Given the description of an element on the screen output the (x, y) to click on. 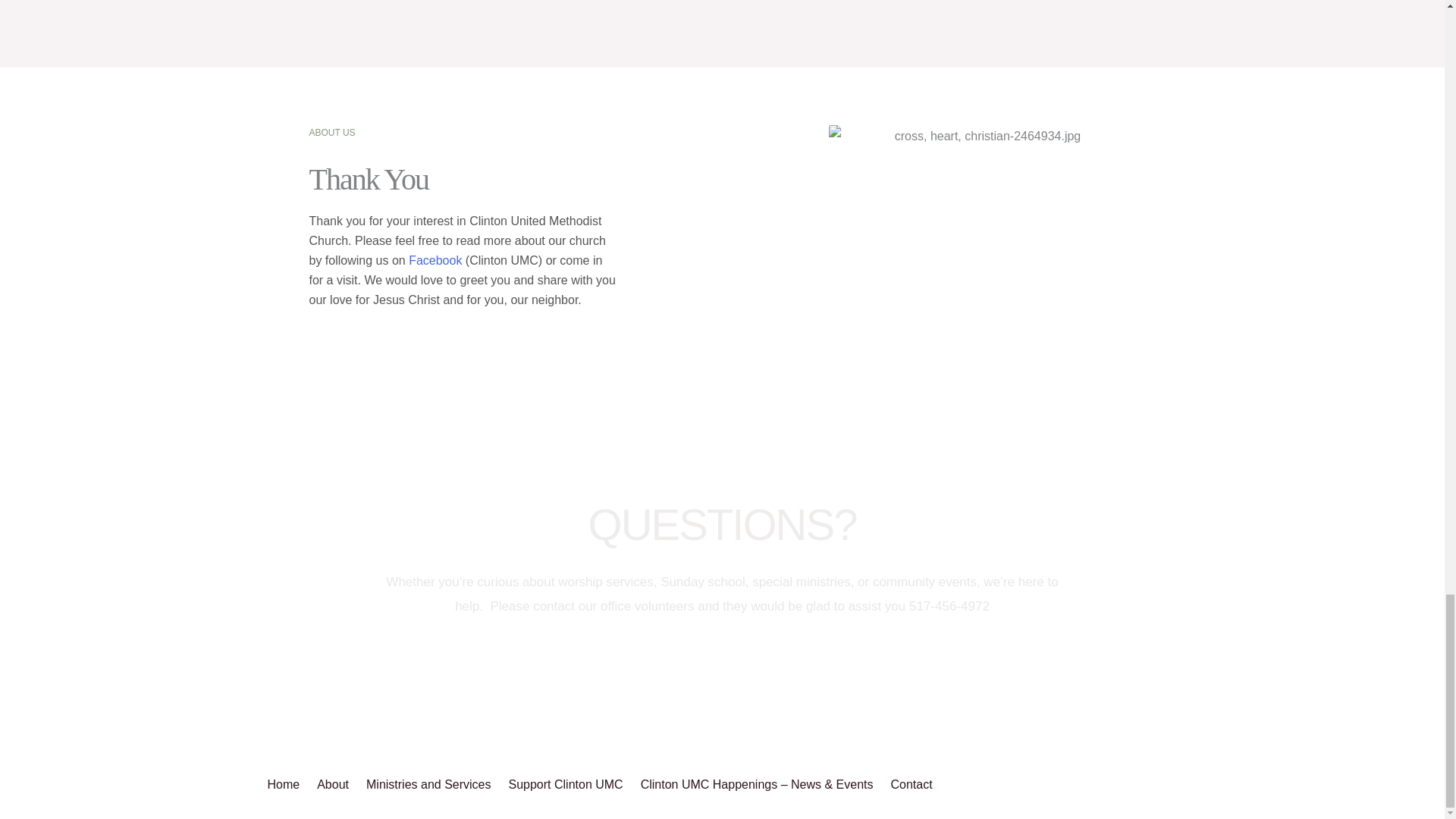
Facebook (435, 259)
Support Clinton UMC (567, 784)
About (335, 784)
Home (288, 784)
Contact (913, 784)
Ministries and Services (430, 784)
